Given the description of an element on the screen output the (x, y) to click on. 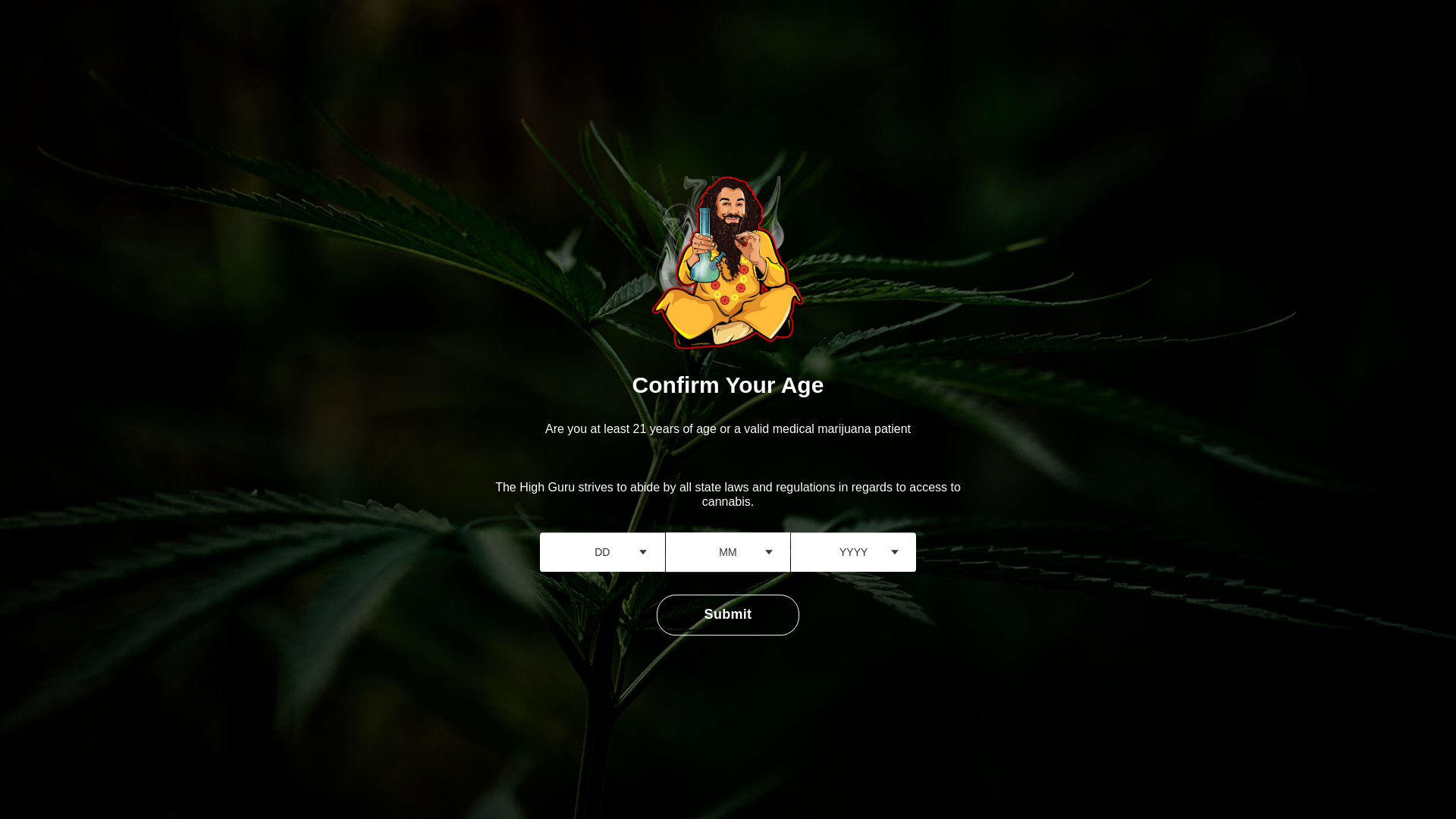
Permalink to Virginia To Legalize Marijuana By 2024 (1077, 535)
CONTACT US (807, 38)
Uncategorized (331, 521)
Maryland Considers Amending Medical Marijuana Laws (987, 234)
Easy Ways to Get Weed in DC (987, 391)
TheHighGuru (380, 618)
Virginia To Legalize Marijuana By 2024 (987, 549)
PRODUCTS (1320, 38)
